Given the description of an element on the screen output the (x, y) to click on. 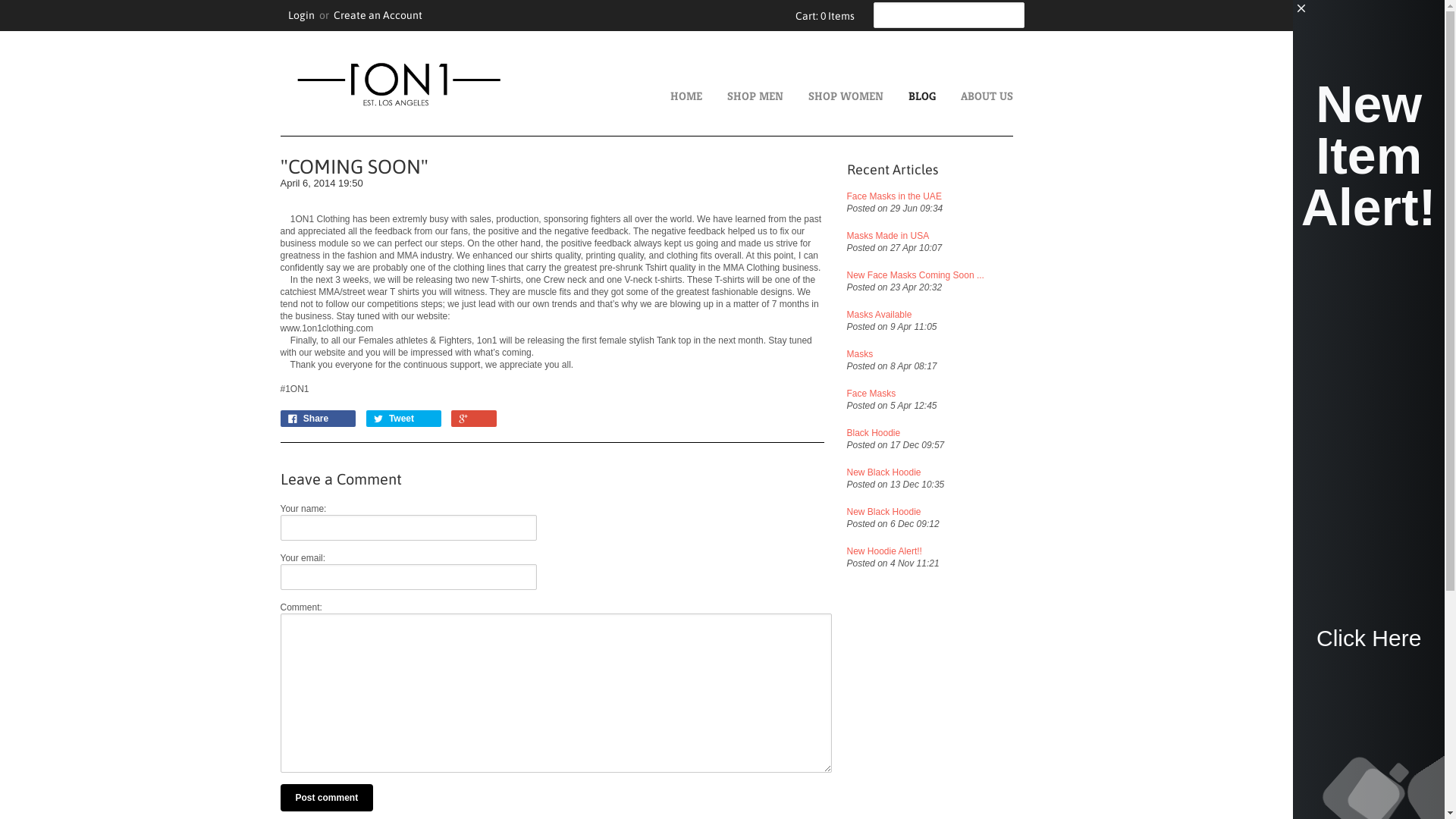
Face Masks Element type: text (971, 393)
HOME Element type: text (762, 96)
Post comment Element type: text (398, 797)
Login Element type: text (377, 15)
Masks Element type: text (977, 354)
ABOUT US Element type: text (1050, 96)
Create an Account Element type: text (453, 15)
New Black Hoodie Element type: text (957, 472)
Face Masks in the UAE Element type: text (998, 196)
Cart: 0 Items Element type: text (897, 15)
New Face Masks Coming Soon ... Element type: text (988, 275)
Share Element type: text (394, 418)
Black Hoodie Element type: text (966, 432)
Masks Made in USA Element type: text (993, 235)
New Hoodie Alert!! Element type: text (950, 551)
New Black Hoodie Element type: text (953, 511)
Masks Available Element type: text (983, 314)
SHOP WOMEN Element type: text (910, 96)
Tweet Element type: text (479, 418)
BLOG Element type: text (986, 96)
SHOP MEN Element type: text (818, 96)
